Given the description of an element on the screen output the (x, y) to click on. 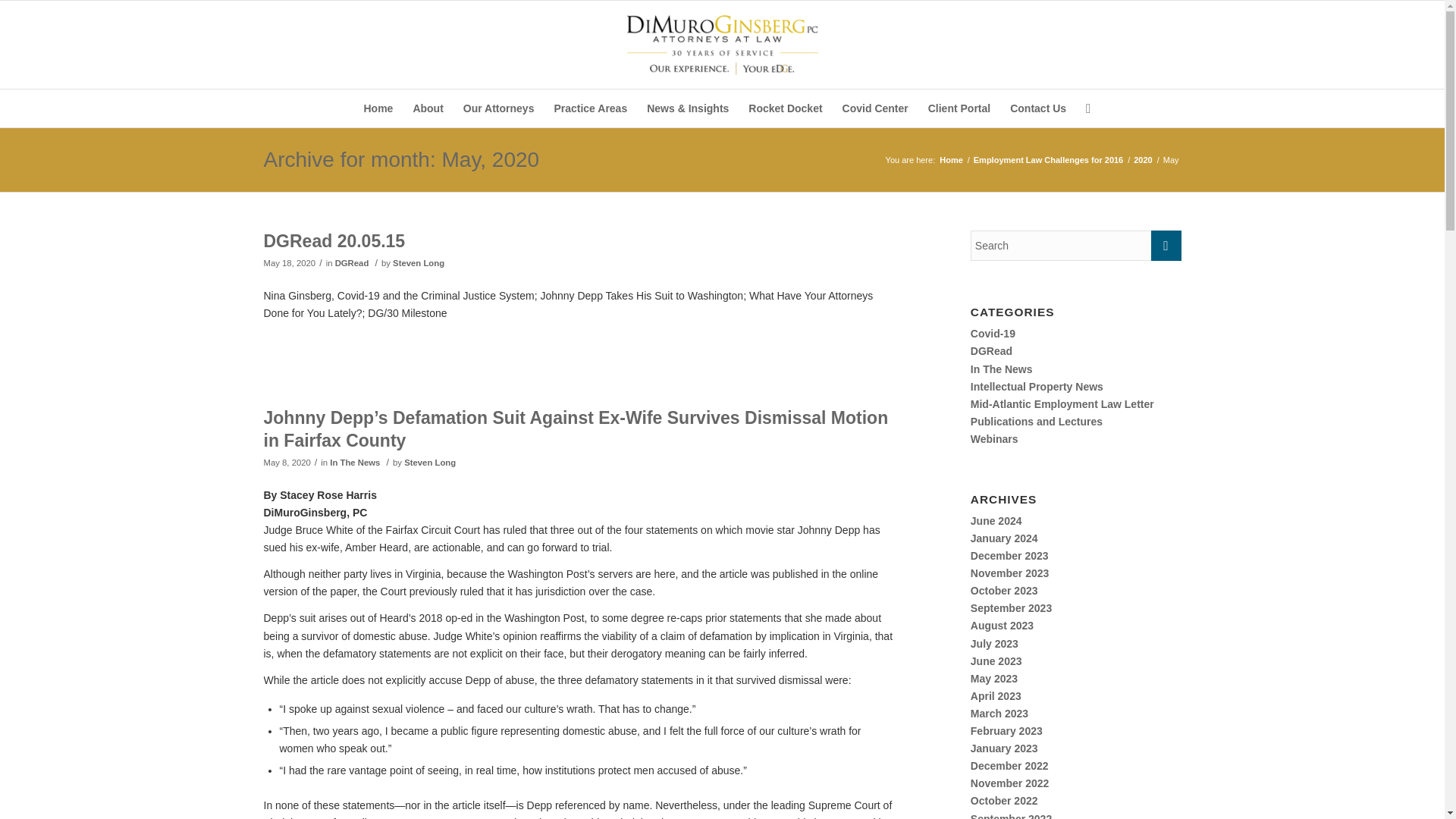
Client Portal (959, 108)
Rocket Docket (784, 108)
Posts by Steven Long (429, 461)
DiMuroGinsberg: (951, 160)
Practice Areas (590, 108)
Home (951, 160)
Contact Us (1037, 108)
2020 (1142, 160)
DGRead (351, 262)
2020 (1142, 160)
